Given the description of an element on the screen output the (x, y) to click on. 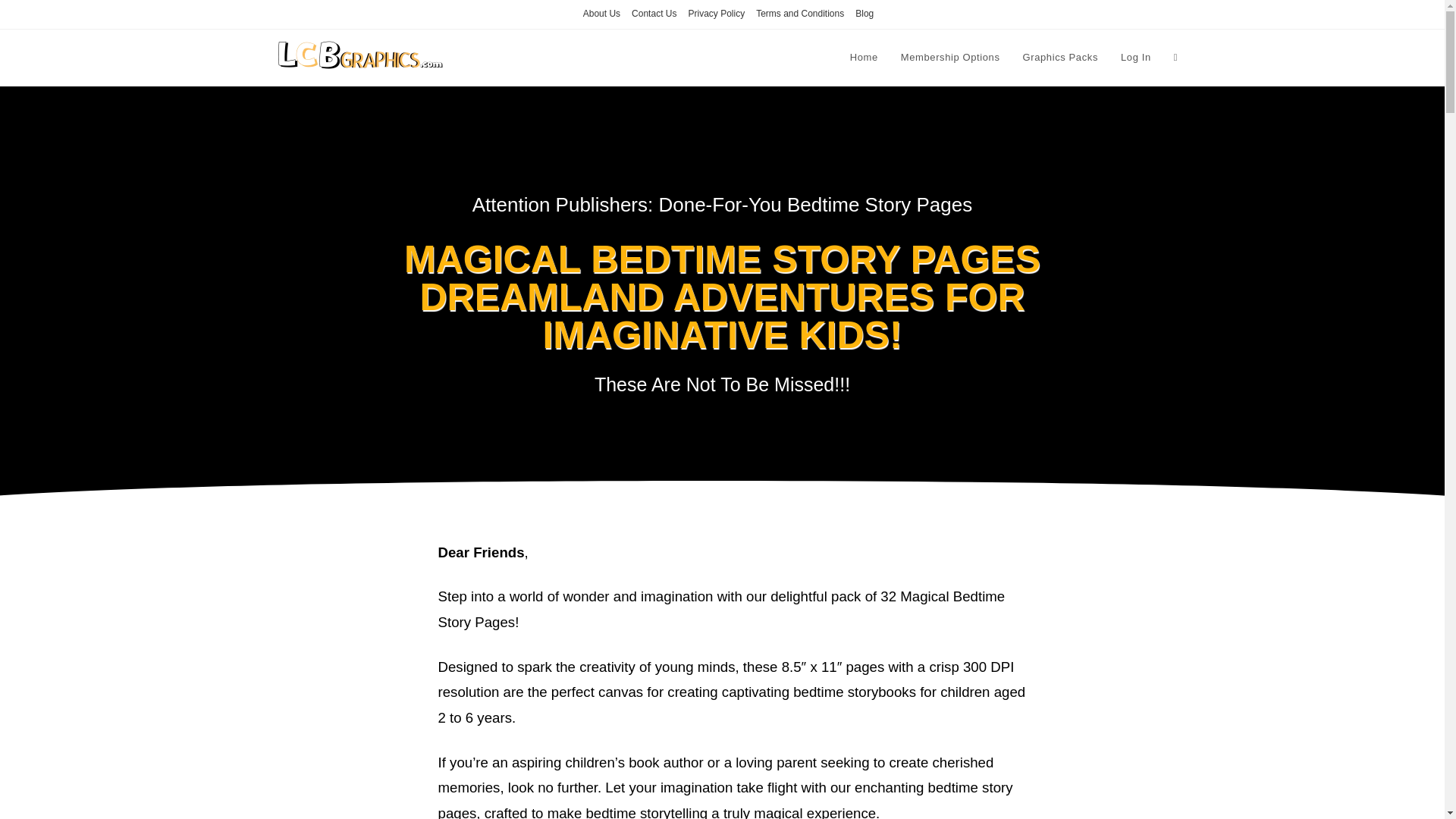
Blog (864, 13)
Graphics Packs (1060, 57)
Privacy Policy (715, 13)
Terms and Conditions (799, 13)
Membership Options (950, 57)
Contact Us (654, 13)
Log In (1135, 57)
About Us (601, 13)
Home (863, 57)
